Given the description of an element on the screen output the (x, y) to click on. 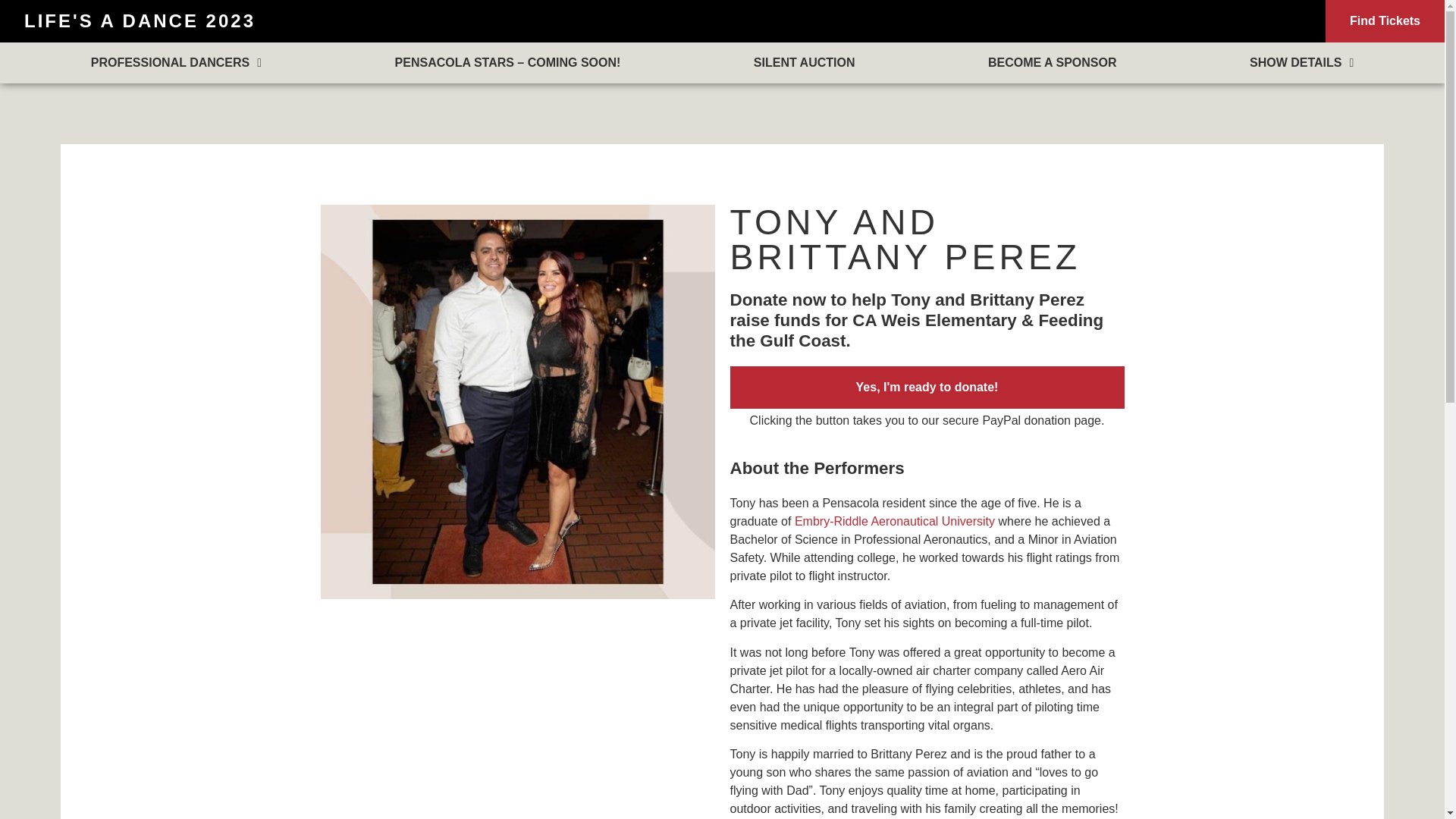
LIFE'S A DANCE 2023 (140, 20)
PROFESSIONAL DANCERS (176, 62)
BECOME A SPONSOR (1051, 62)
SILENT AUCTION (804, 62)
Yes, I'm ready to donate! (926, 387)
SHOW DETAILS (1301, 62)
Embry-Riddle Aeronautical University (894, 521)
